Given the description of an element on the screen output the (x, y) to click on. 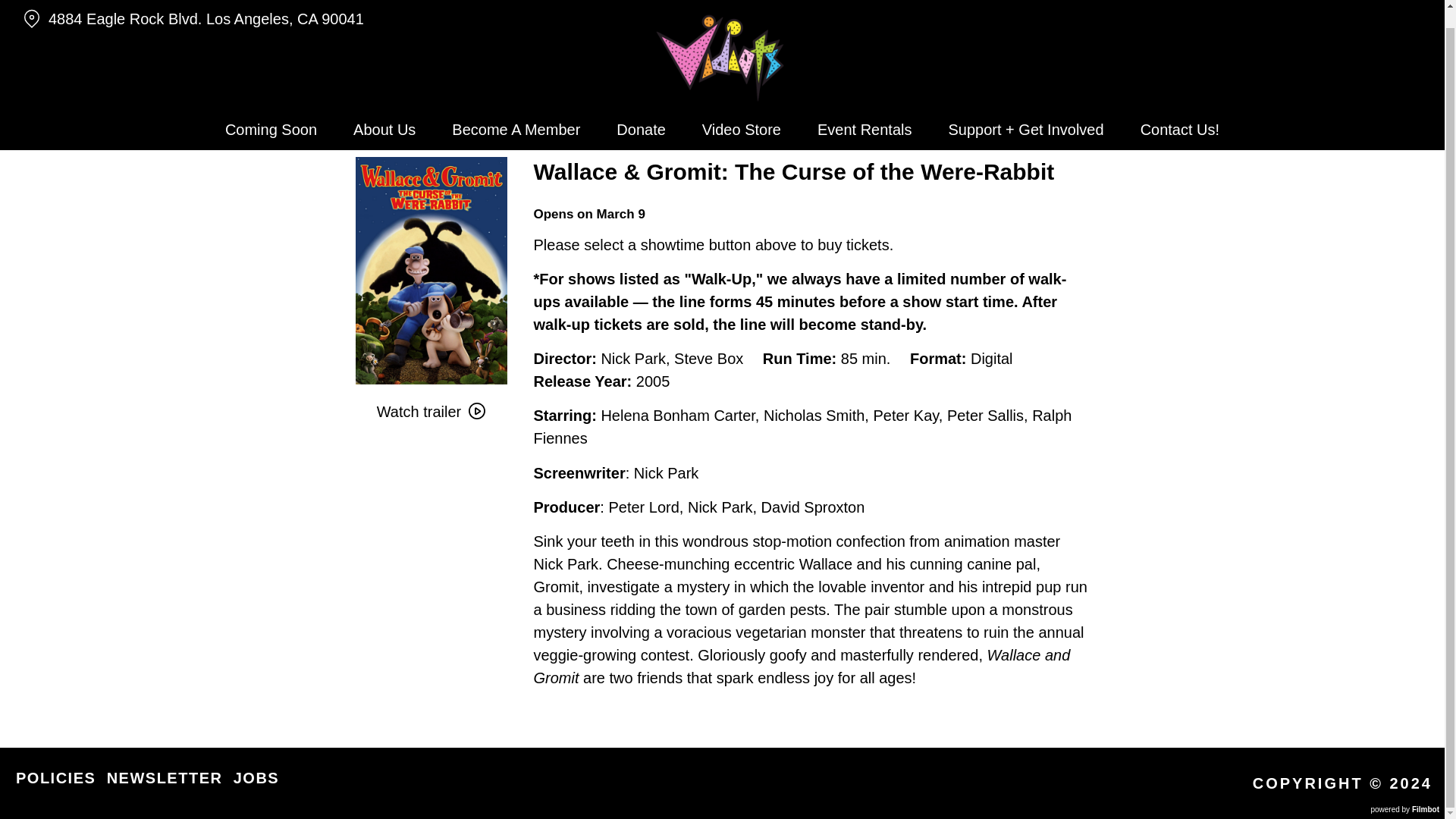
twitter (1391, 2)
Become A Member (515, 111)
instagram (1363, 2)
Event Rentals (864, 111)
Watch trailer (430, 411)
Coming Soon (270, 111)
Contact Us! (1179, 111)
Video Store (741, 111)
Donate (641, 111)
About Us (384, 111)
facebook (1420, 2)
POLICIES (56, 778)
4884 Eagle Rock Blvd. Los Angeles, CA 90041 (250, 7)
